Given the description of an element on the screen output the (x, y) to click on. 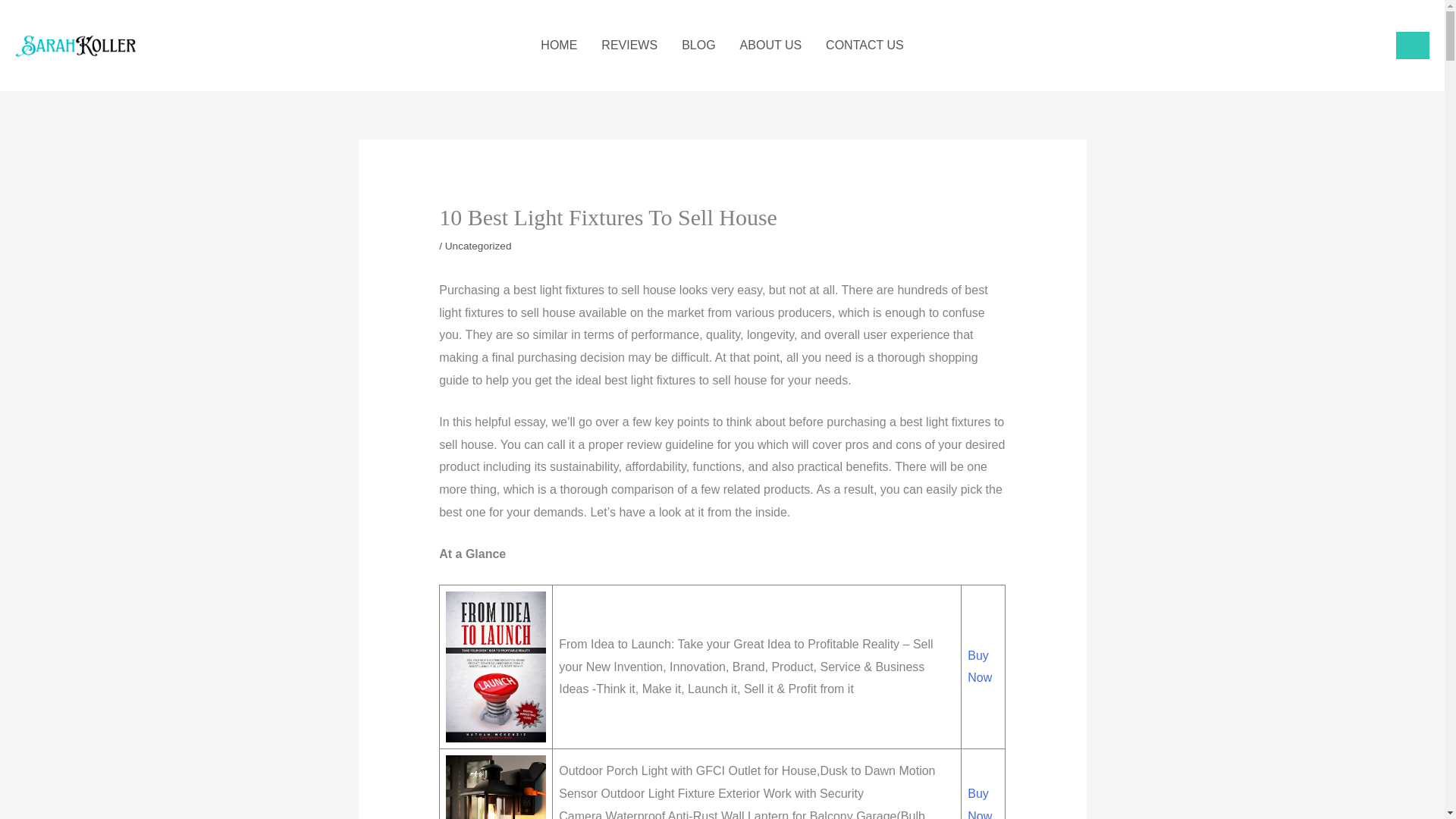
CONTACT US (864, 45)
Uncategorized (478, 245)
ABOUT US (770, 45)
